Given the description of an element on the screen output the (x, y) to click on. 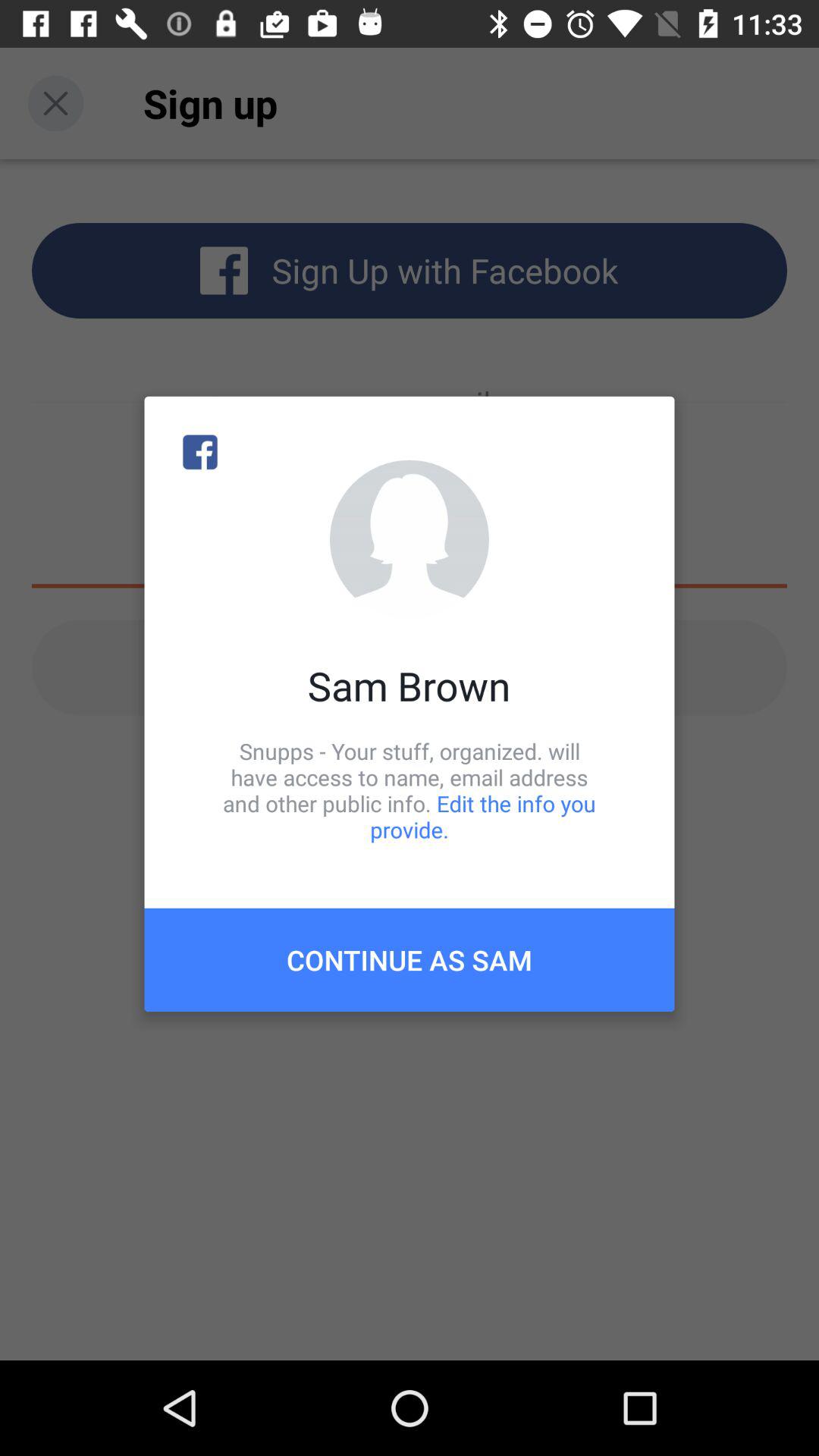
swipe until snupps your stuff icon (409, 789)
